Given the description of an element on the screen output the (x, y) to click on. 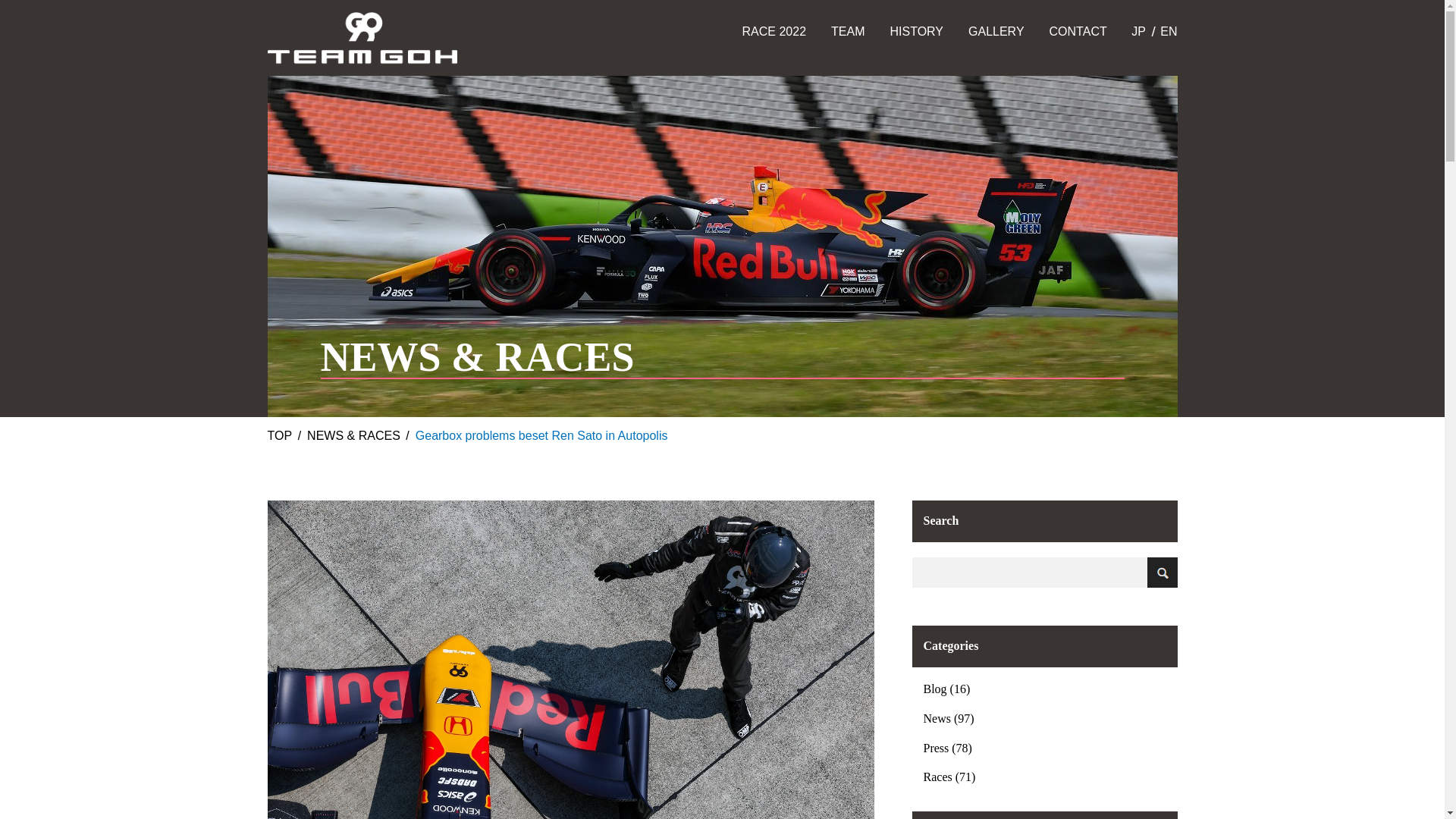
GALLERY (996, 32)
 JP (1136, 31)
Search (1161, 572)
HISTORY (916, 32)
TOP (279, 435)
JP (1136, 31)
CONTACT (1077, 32)
 EN (1167, 31)
Search (1161, 572)
EN (1167, 31)
TEAM (847, 32)
RACE 2022 (774, 32)
